Given the description of an element on the screen output the (x, y) to click on. 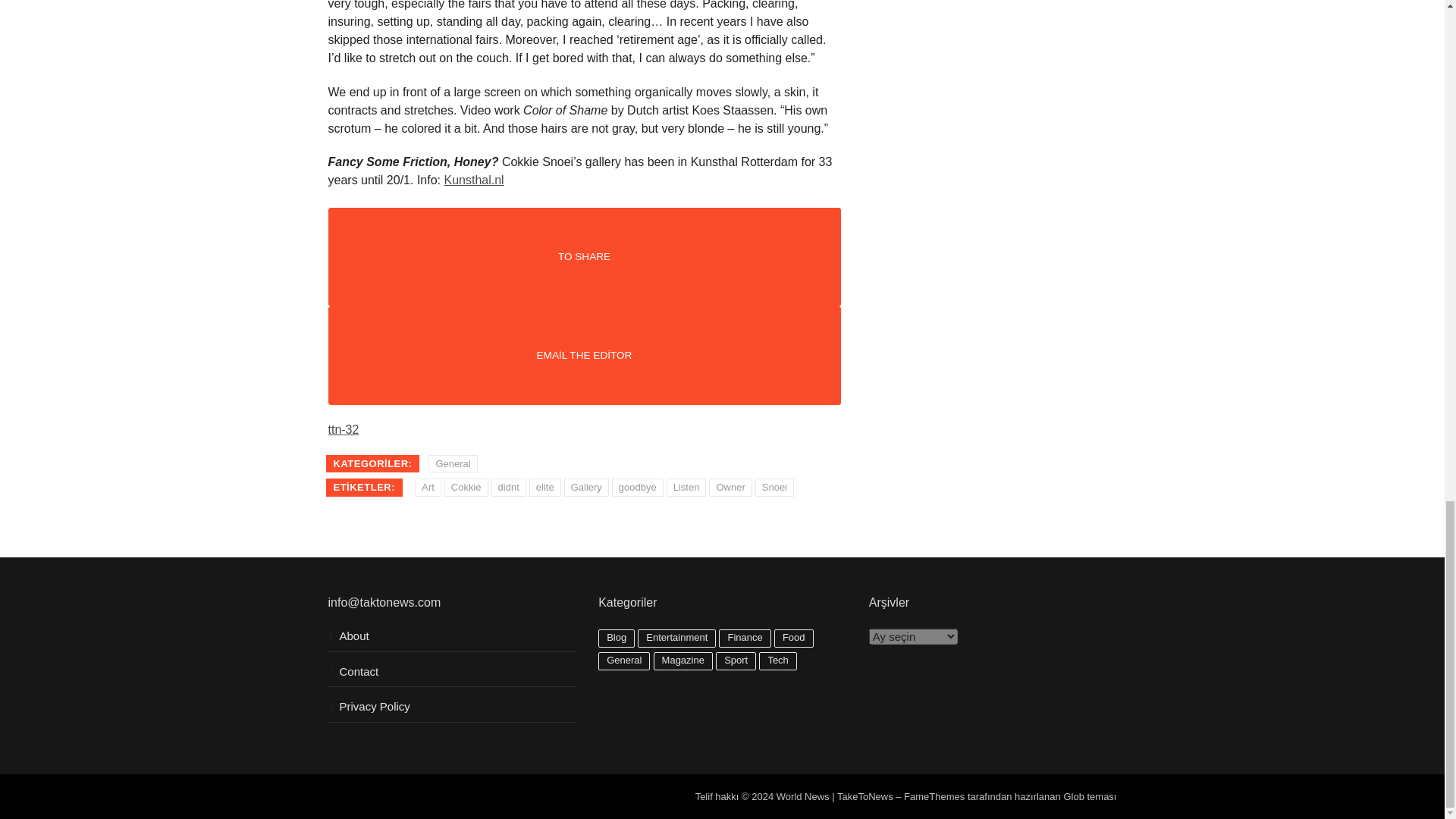
elite (544, 487)
Art (427, 487)
Cokkie (465, 487)
Kunsthal.nl (473, 179)
Gallery (586, 487)
ttn-32 (342, 429)
General (452, 464)
Snoei (774, 487)
Owner (730, 487)
Listen (686, 487)
